Given the description of an element on the screen output the (x, y) to click on. 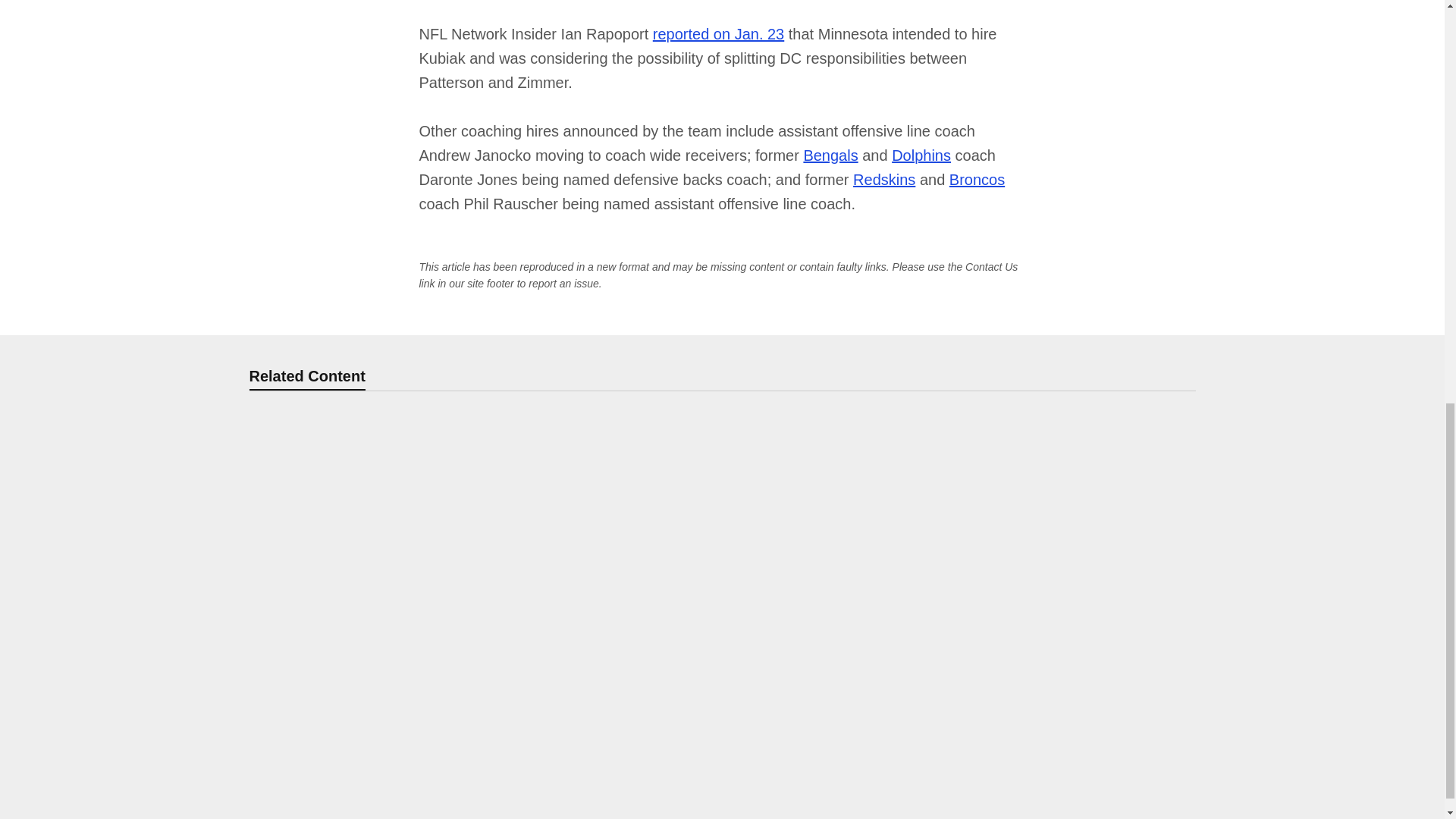
Broncos (976, 179)
reported on Jan. 23 (718, 33)
Redskins (884, 179)
Dolphins (920, 155)
Bengals (830, 155)
